Given the description of an element on the screen output the (x, y) to click on. 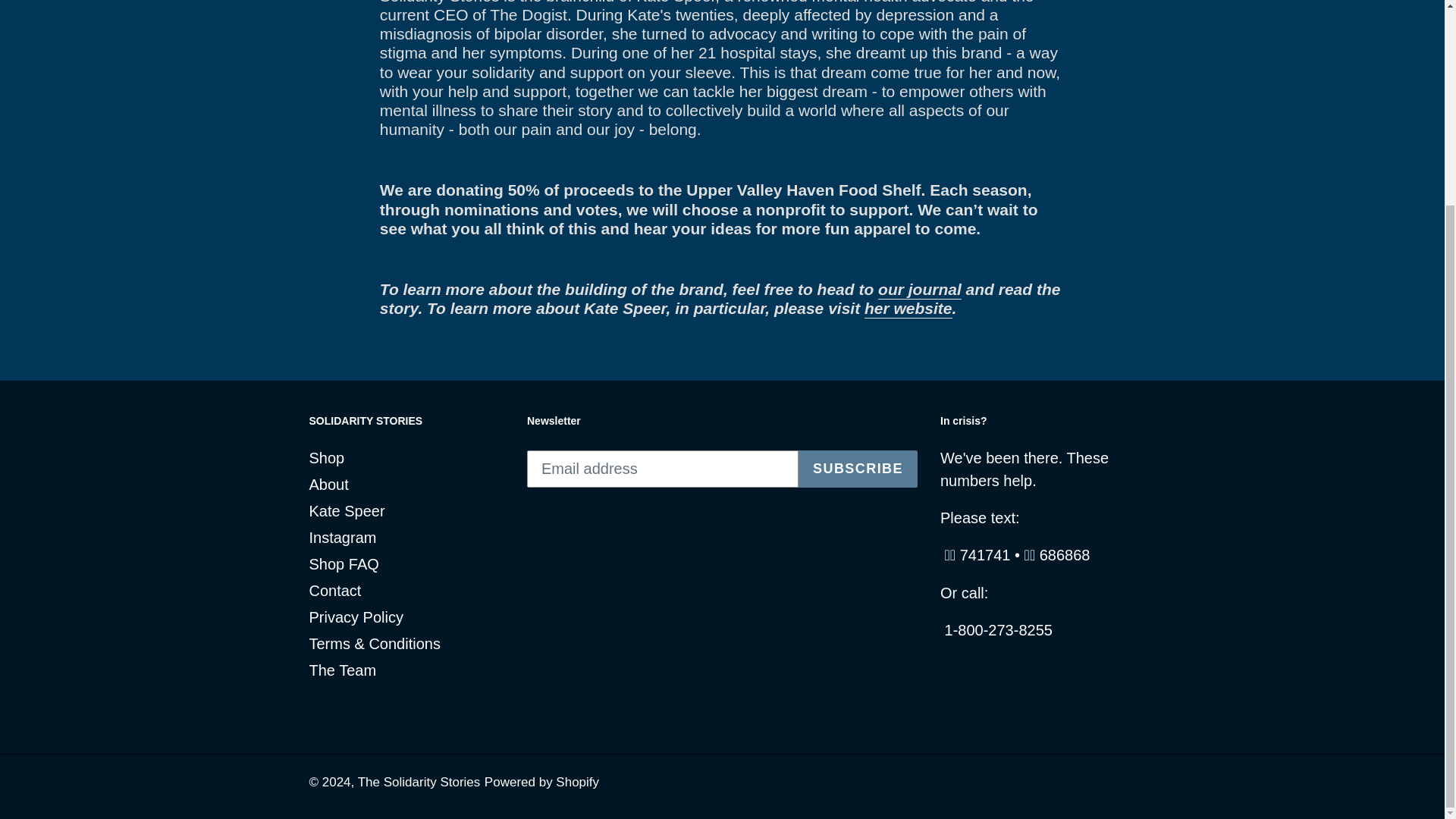
About (328, 484)
Kate Speer (346, 510)
Privacy Policy (355, 617)
her website (908, 308)
Shop FAQ (343, 564)
Instagram (342, 537)
SUBSCRIBE (857, 468)
Contact (334, 590)
our journal (918, 289)
The Team (342, 669)
